Given the description of an element on the screen output the (x, y) to click on. 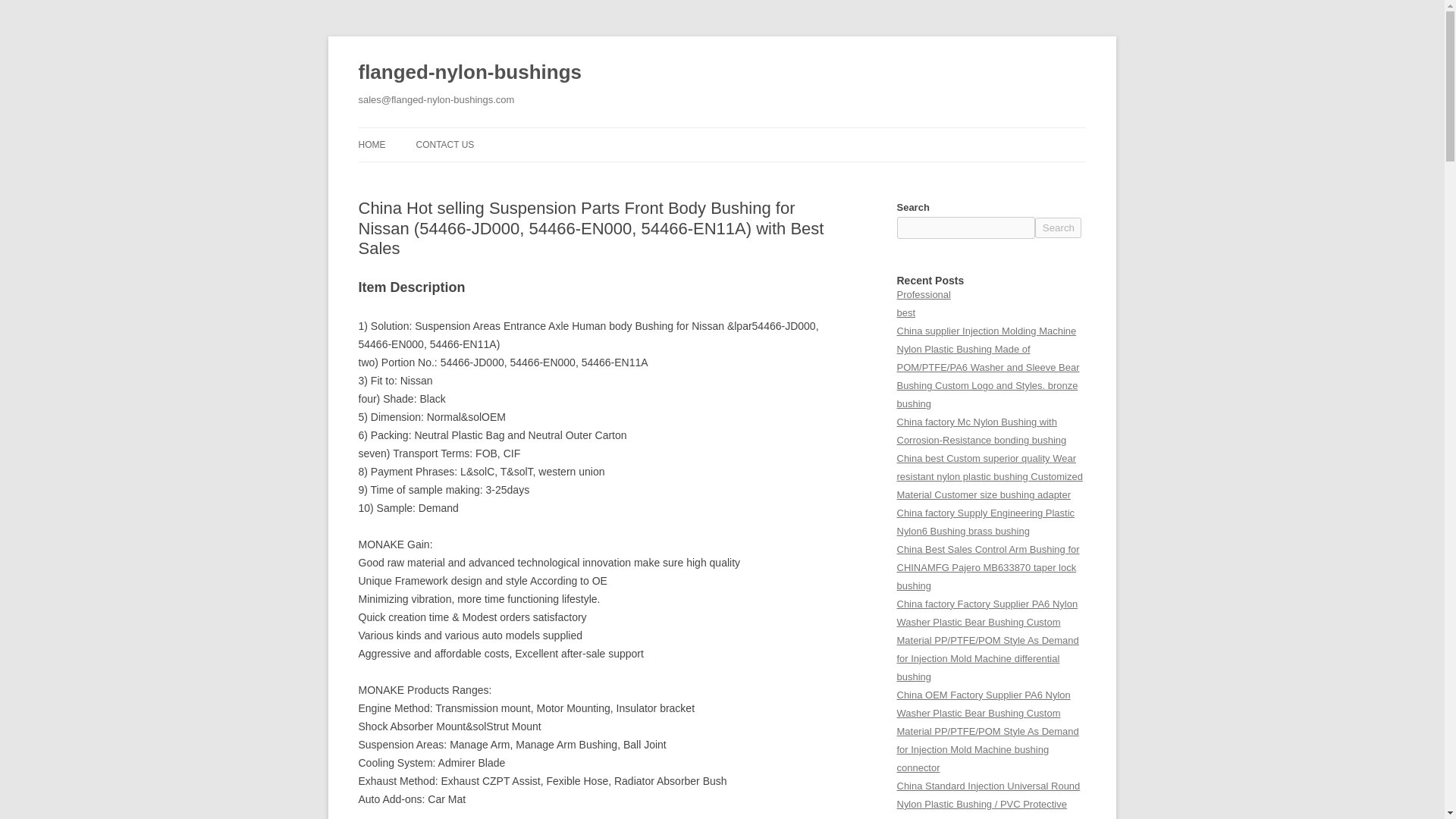
Professional (923, 294)
best (905, 312)
CONTACT US (444, 144)
flanged-nylon-bushings (469, 72)
Search (1058, 227)
